Given the description of an element on the screen output the (x, y) to click on. 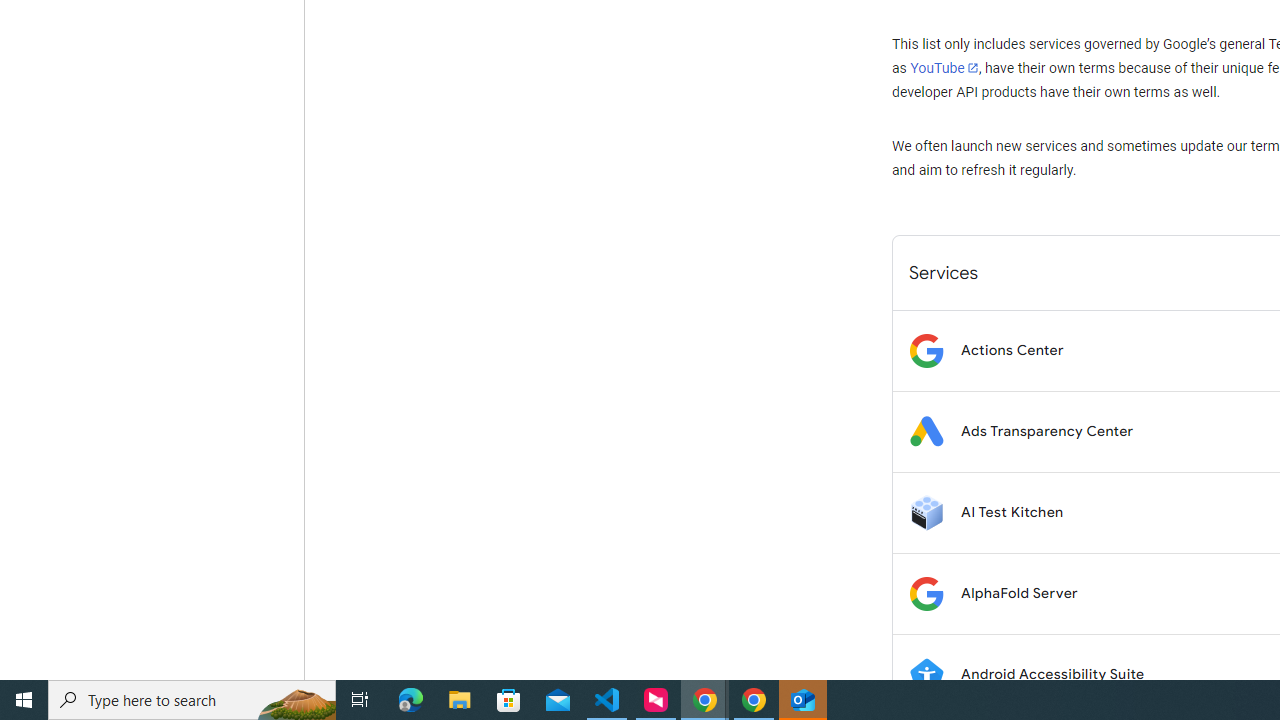
Logo for Actions Center (926, 349)
Logo for AlphaFold Server (926, 593)
Logo for Ads Transparency Center (926, 431)
YouTube (944, 68)
Logo for Android Accessibility Suite (926, 673)
Logo for AI Test Kitchen (926, 512)
